Given the description of an element on the screen output the (x, y) to click on. 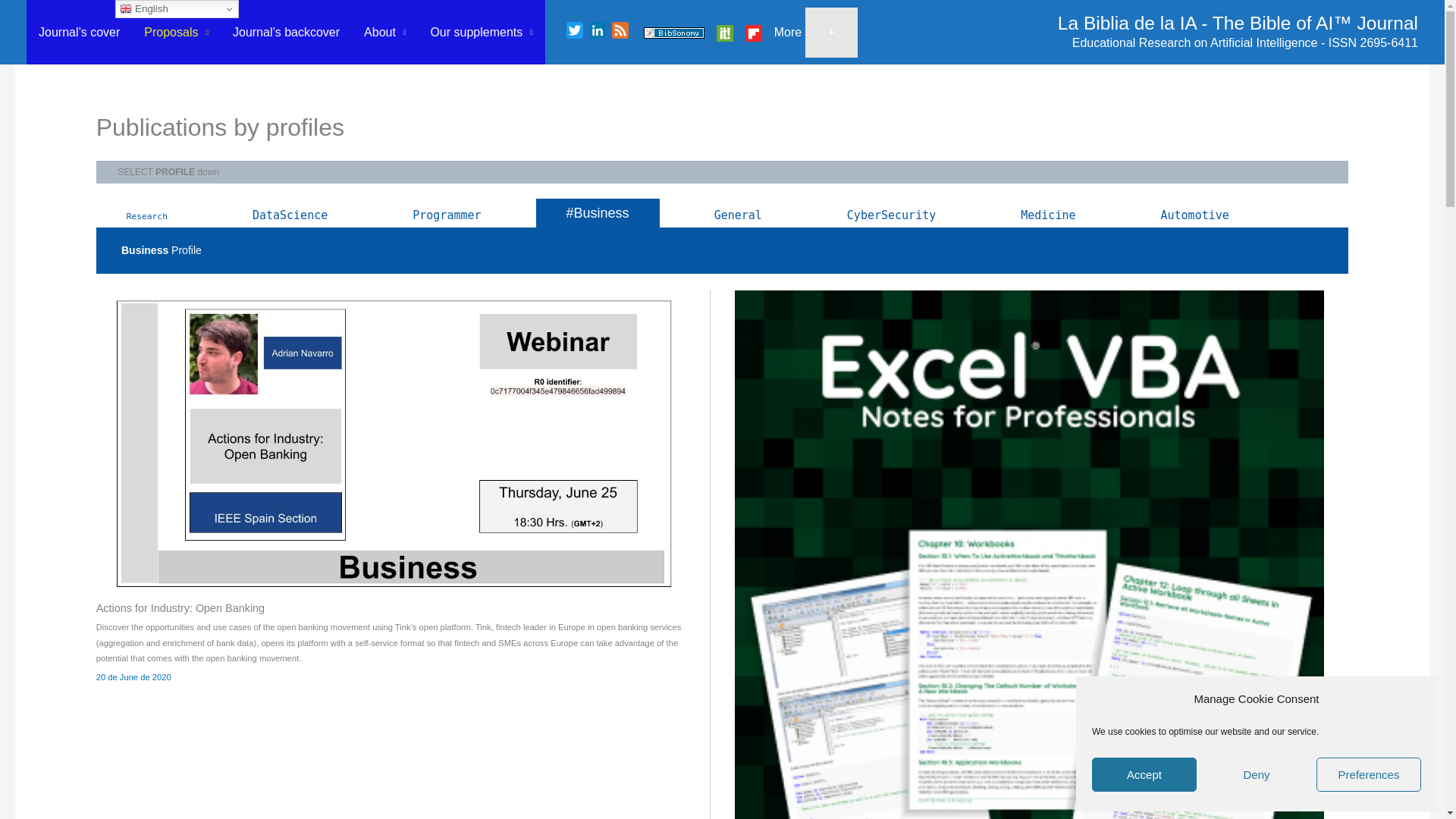
RSS Feed (619, 32)
Our supplements (480, 32)
BibSonomy (673, 31)
Accept (1144, 774)
Deny (1256, 774)
Proposals (176, 32)
About (384, 32)
Twitter (574, 32)
Preferences (1368, 774)
Twitter (574, 32)
